Given the description of an element on the screen output the (x, y) to click on. 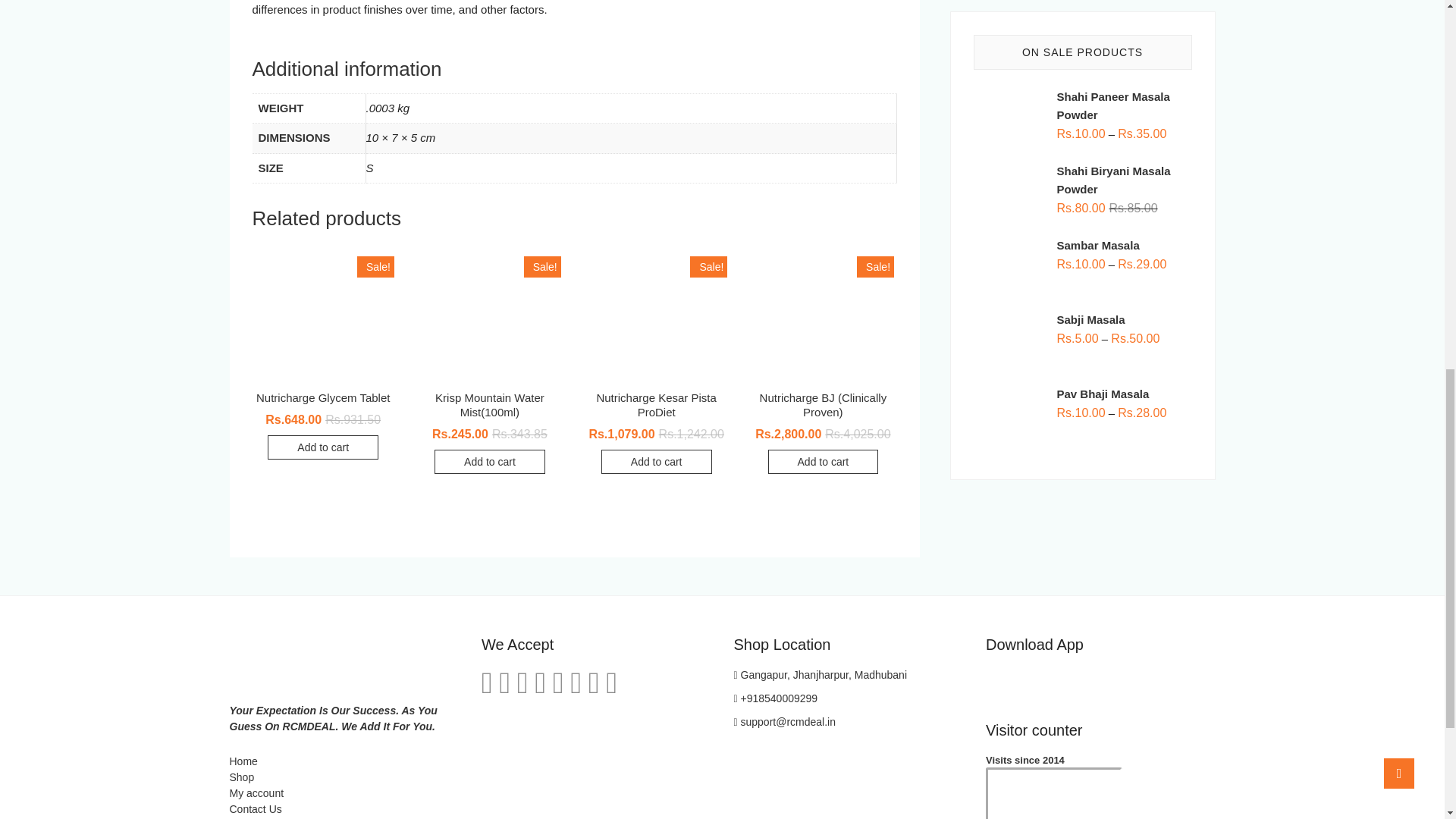
Add to cart (488, 461)
Add to cart (322, 446)
Our Address (820, 674)
